Given the description of an element on the screen output the (x, y) to click on. 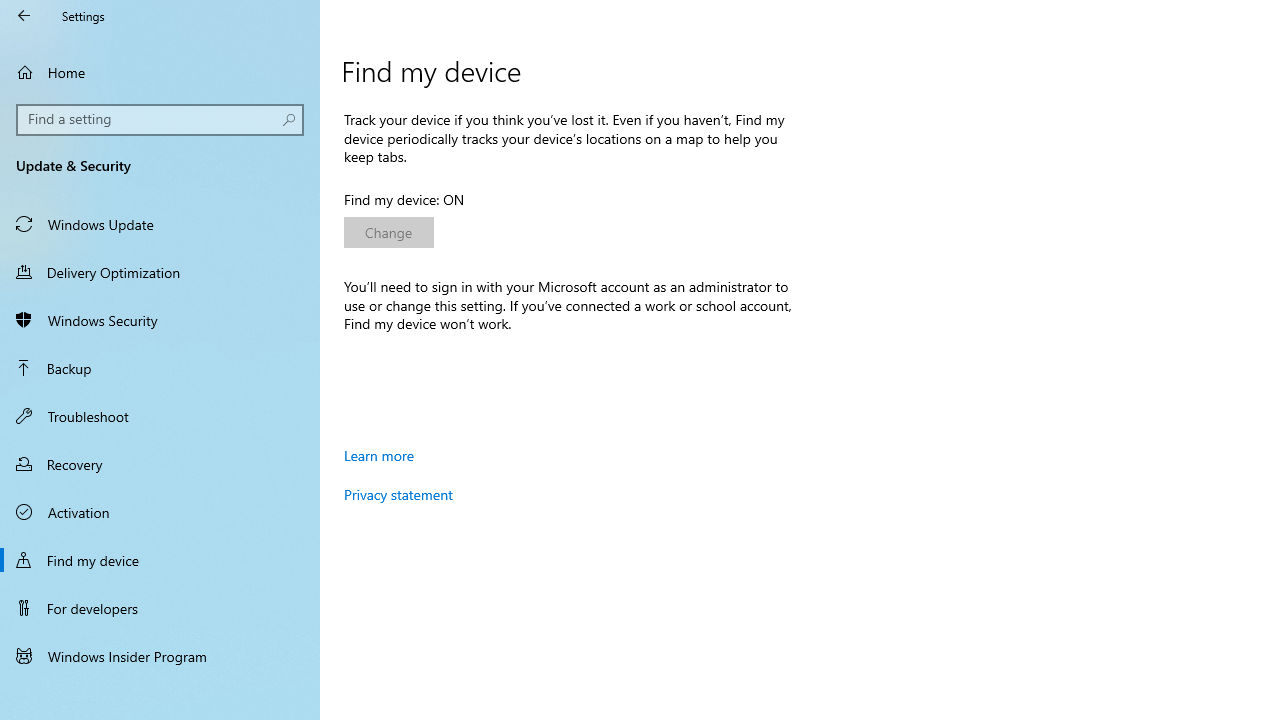
Search box, Find a setting (160, 119)
Troubleshoot (160, 415)
Backup (160, 367)
Delivery Optimization (160, 271)
Home (160, 71)
Back (24, 15)
Privacy statement (398, 494)
Windows Security (160, 319)
Find my device (160, 559)
For developers (160, 607)
Windows Update (160, 223)
Change (388, 231)
Activation (160, 511)
Recovery (160, 463)
Windows Insider Program (160, 655)
